Given the description of an element on the screen output the (x, y) to click on. 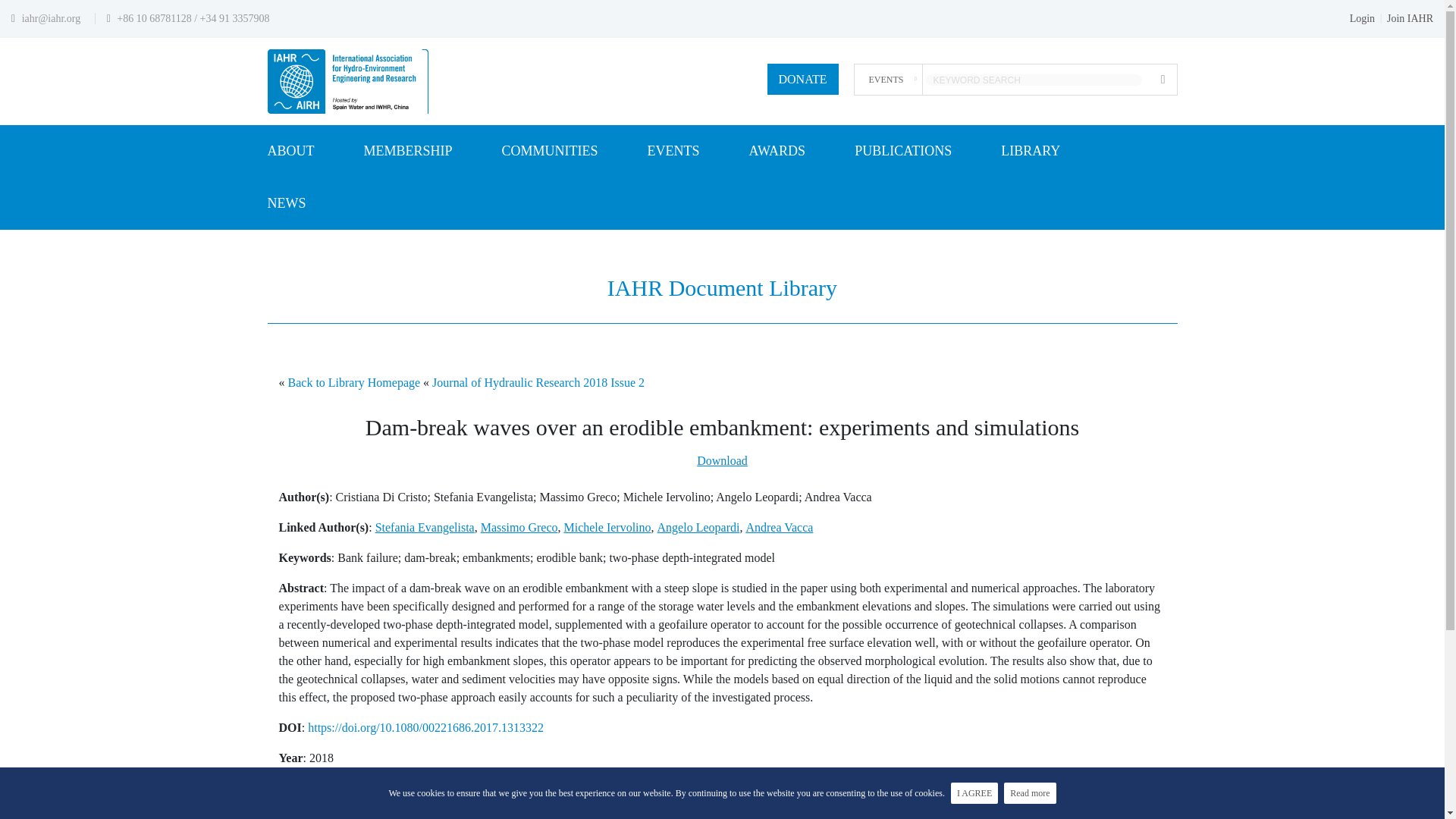
ABOUT (290, 151)
AWARDS (777, 151)
MEMBERSHIP (408, 151)
COMMUNITIES (550, 151)
DONATE (802, 79)
Join IAHR (1409, 18)
EVENTS (673, 151)
Login (1361, 18)
PUBLICATIONS (903, 151)
